Given the description of an element on the screen output the (x, y) to click on. 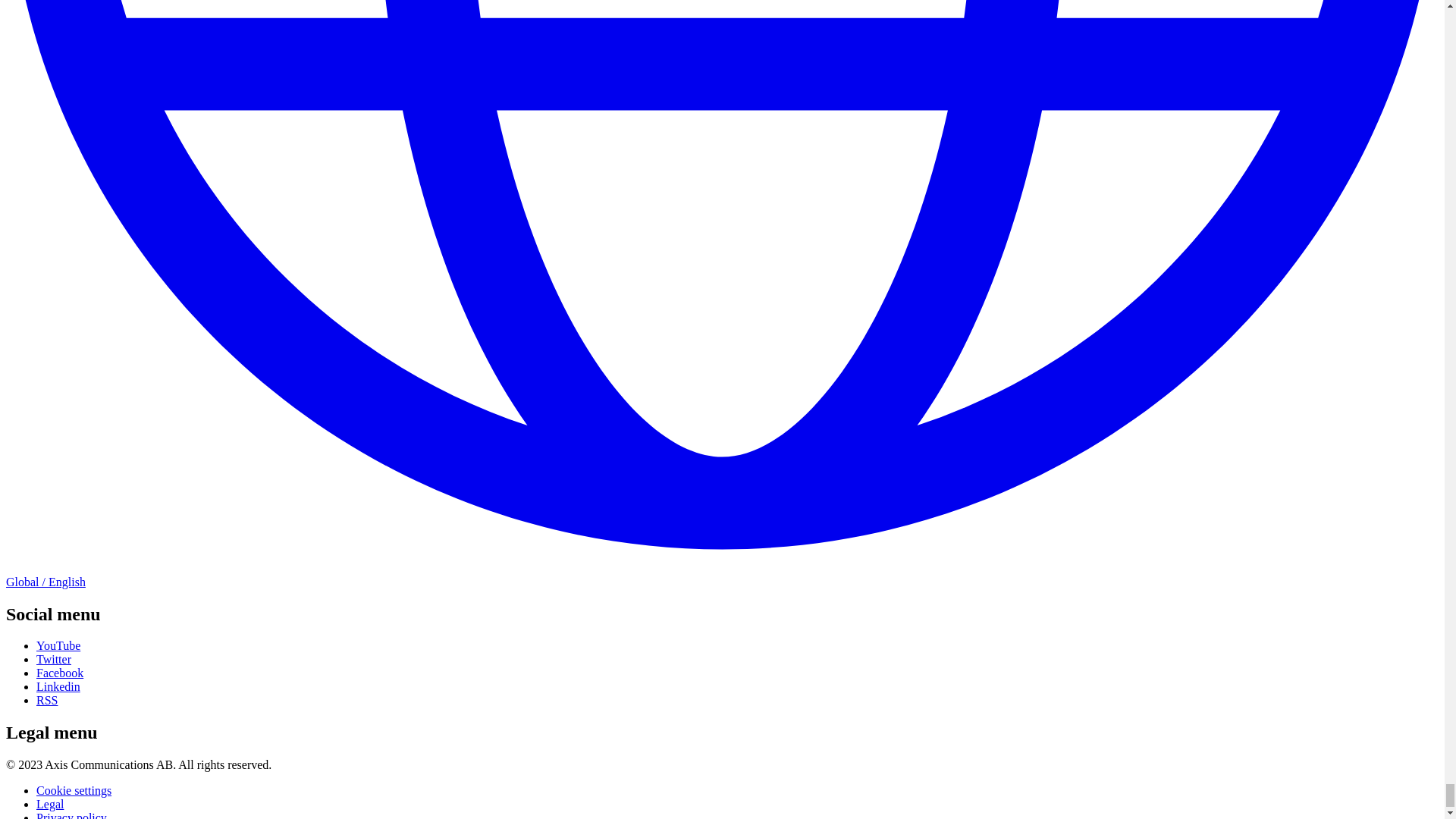
Twitter (53, 658)
Facebook (59, 672)
YouTube (58, 645)
RSS (47, 699)
